Given the description of an element on the screen output the (x, y) to click on. 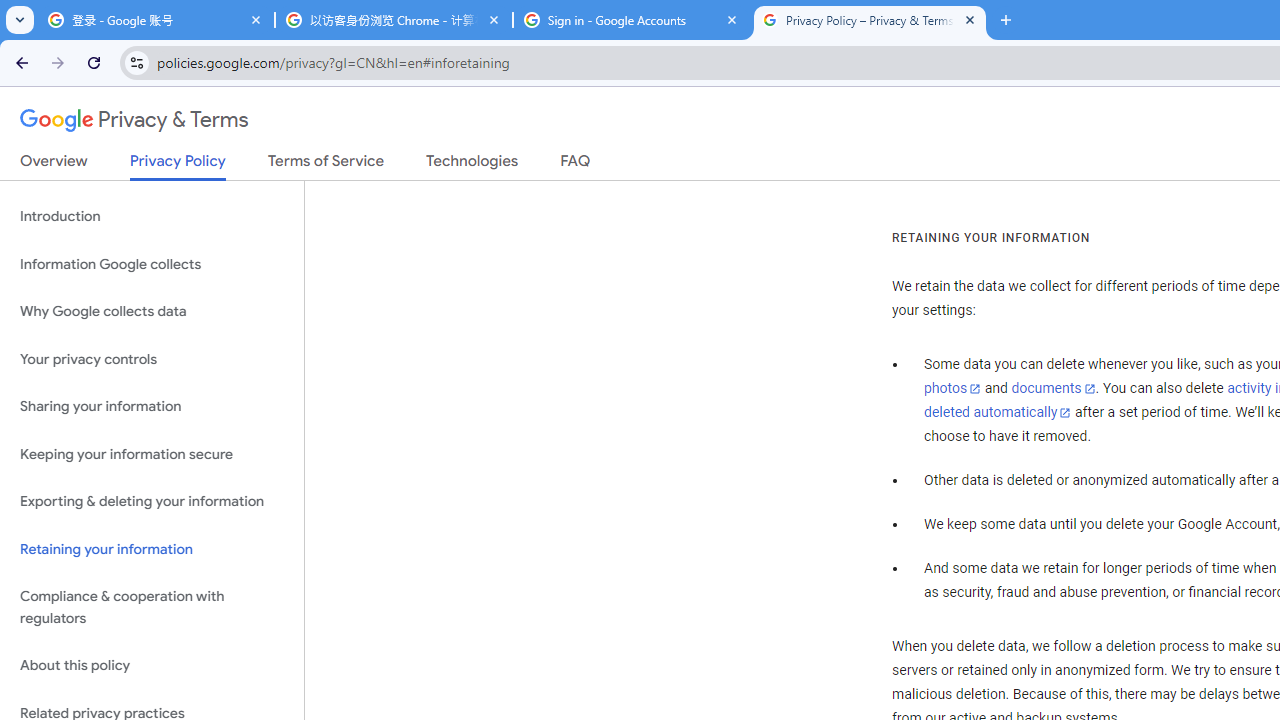
Sign in - Google Accounts (632, 20)
Sharing your information (152, 407)
Keeping your information secure (152, 453)
Why Google collects data (152, 312)
Your privacy controls (152, 358)
